Given the description of an element on the screen output the (x, y) to click on. 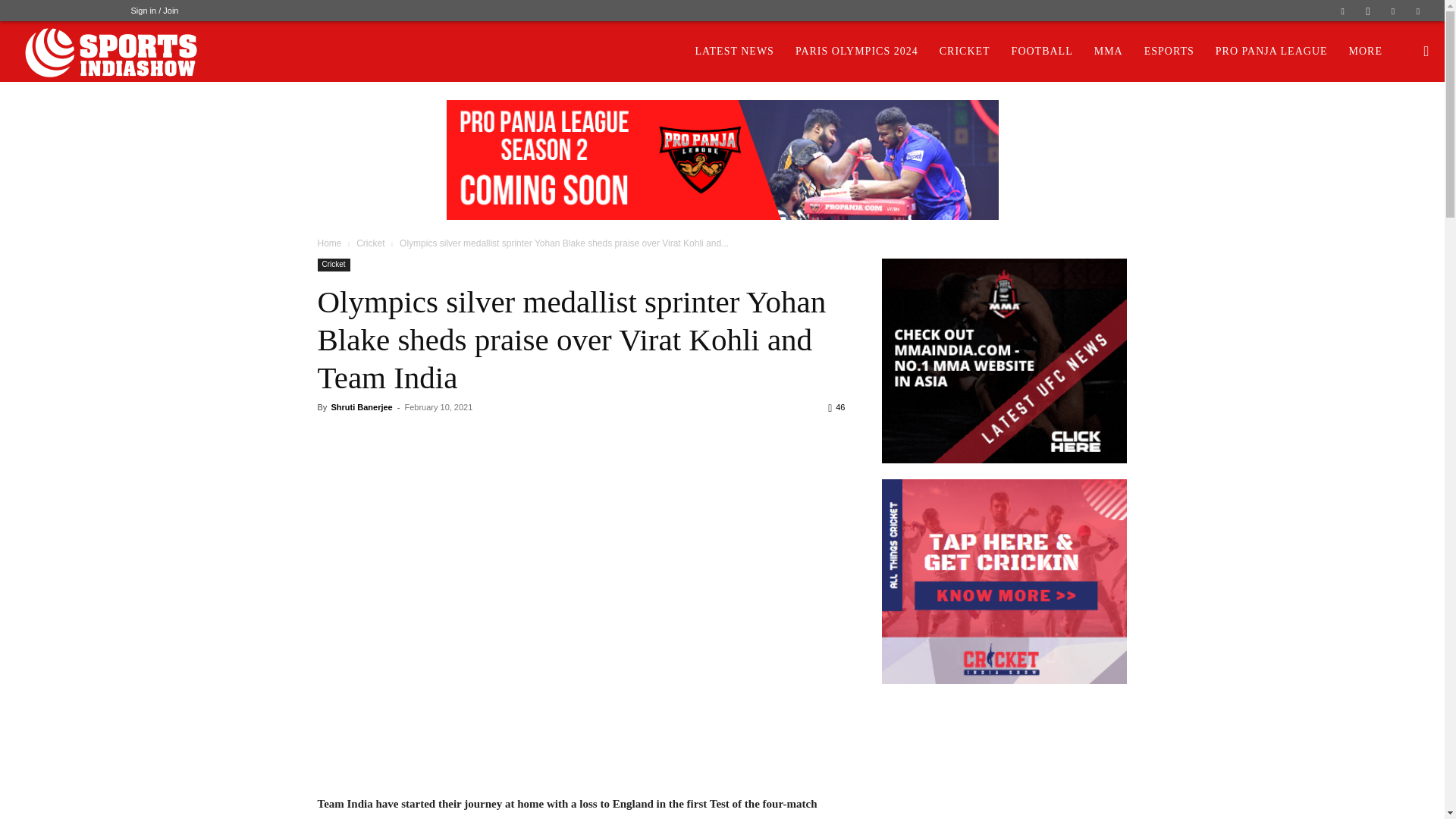
Twitter (1393, 10)
Facebook (1343, 10)
Instagram (1367, 10)
Youtube (1417, 10)
